Given the description of an element on the screen output the (x, y) to click on. 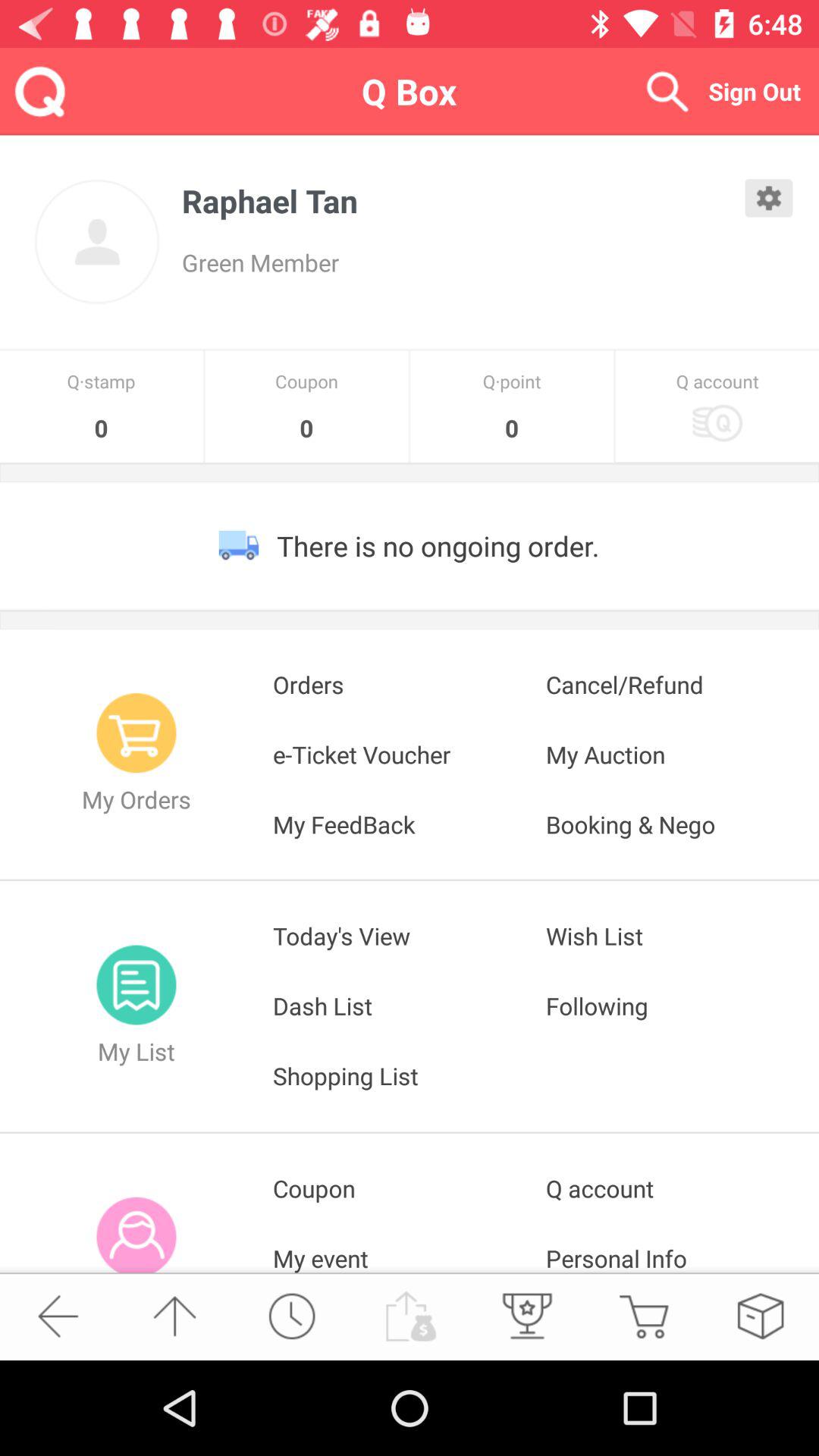
go to my shopping cart (642, 1316)
